Given the description of an element on the screen output the (x, y) to click on. 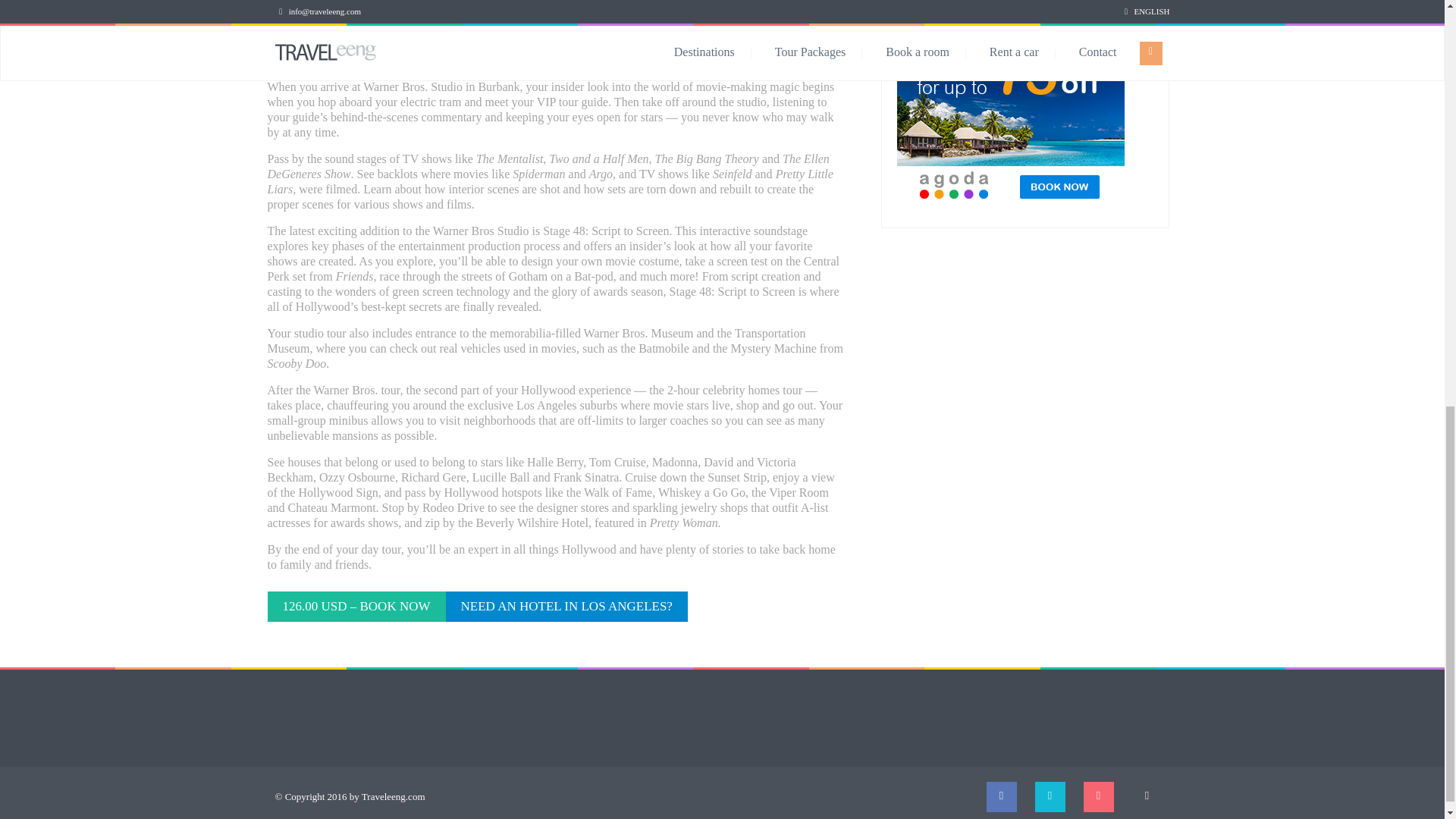
NEED AN HOTEL IN LOS ANGELES? (566, 606)
